Given the description of an element on the screen output the (x, y) to click on. 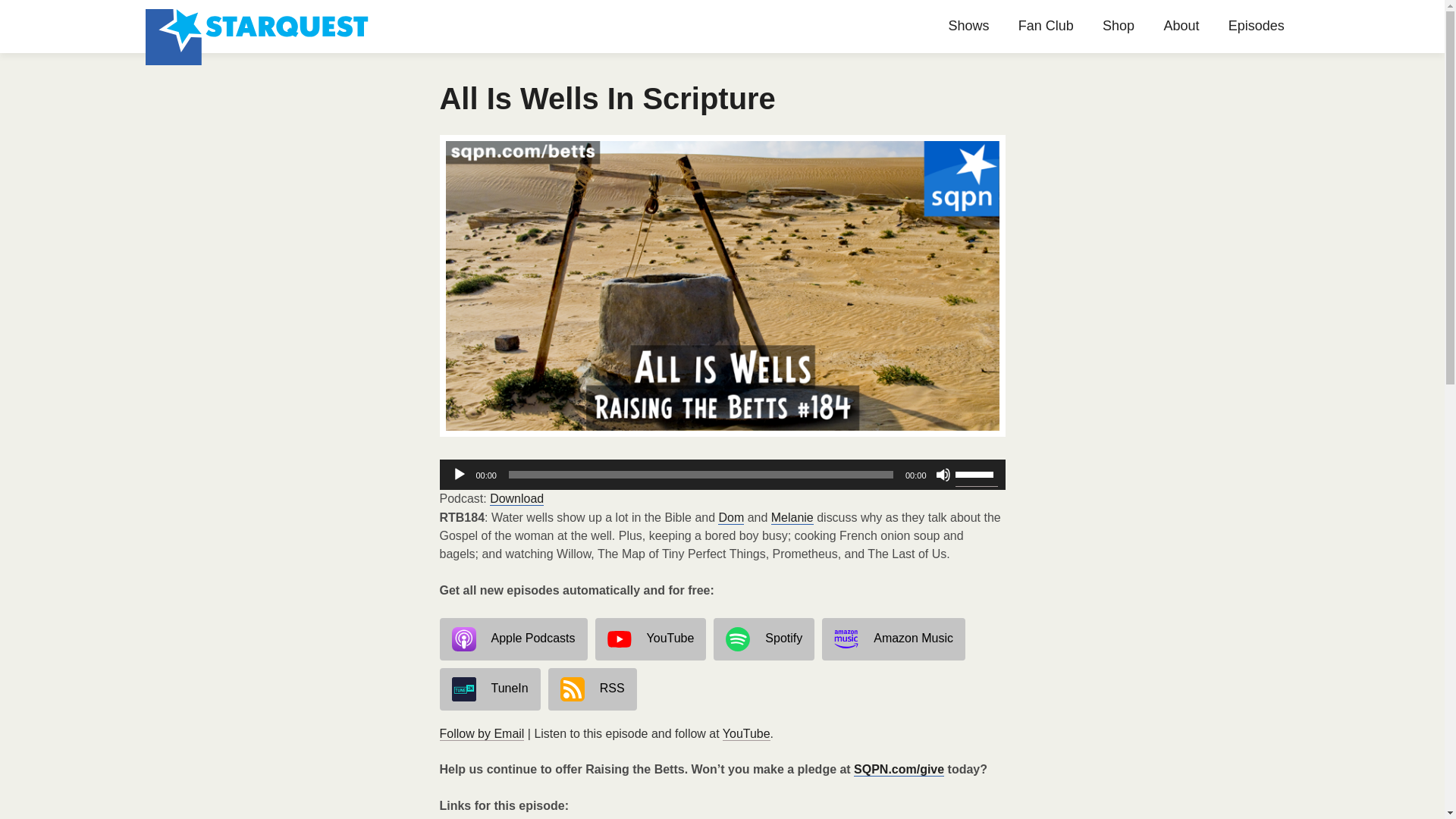
Mute (943, 474)
Play (459, 474)
Download (516, 499)
Subscribe by Email (481, 734)
Skip to content (592, 36)
Shop (1118, 26)
About (1180, 26)
Shows (967, 26)
StarQuest Media (258, 26)
Fan Club (1045, 26)
SKIP TO CONTENT (592, 36)
